Given the description of an element on the screen output the (x, y) to click on. 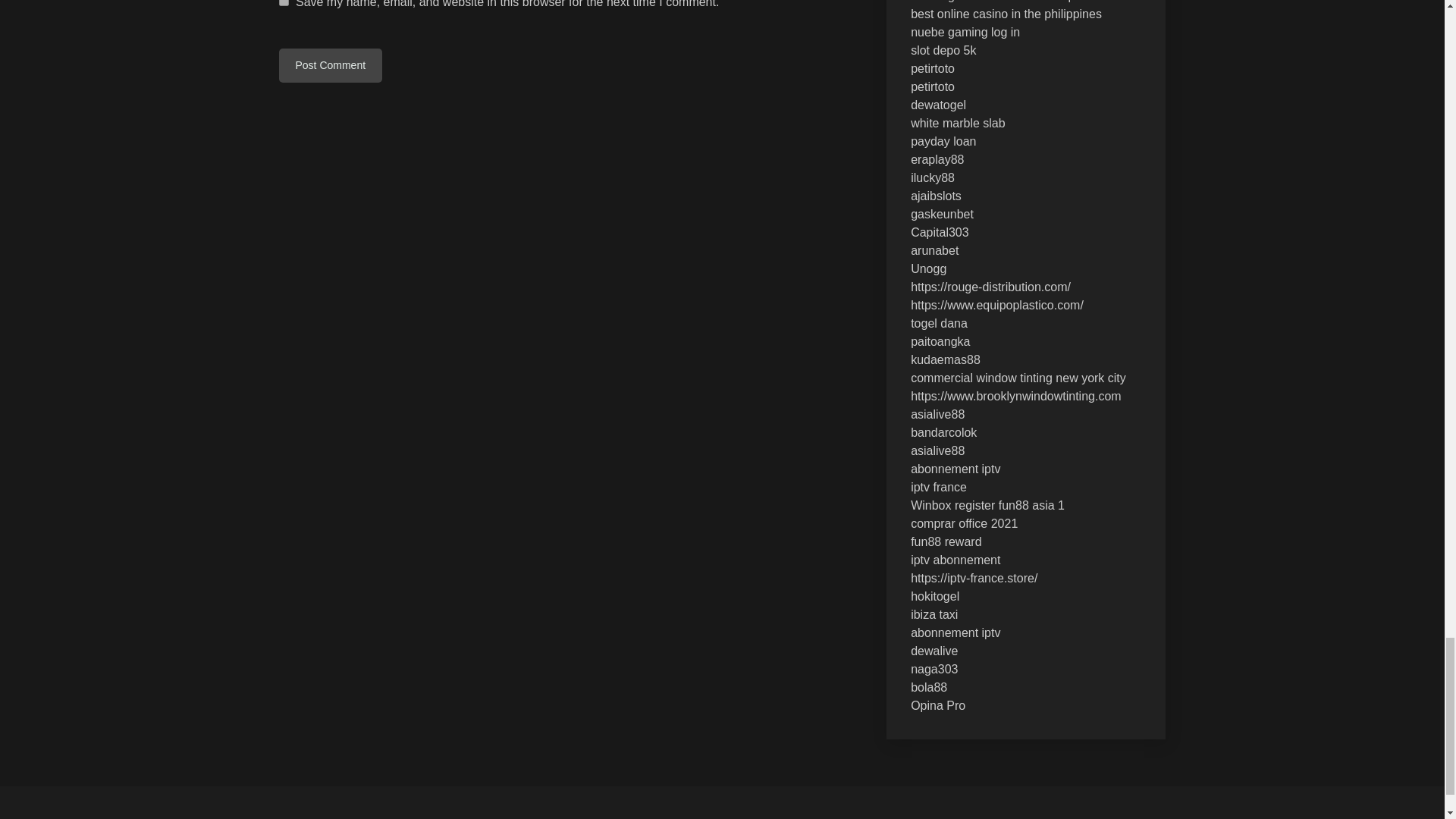
Post Comment (330, 65)
Post Comment (330, 65)
yes (283, 2)
